Given the description of an element on the screen output the (x, y) to click on. 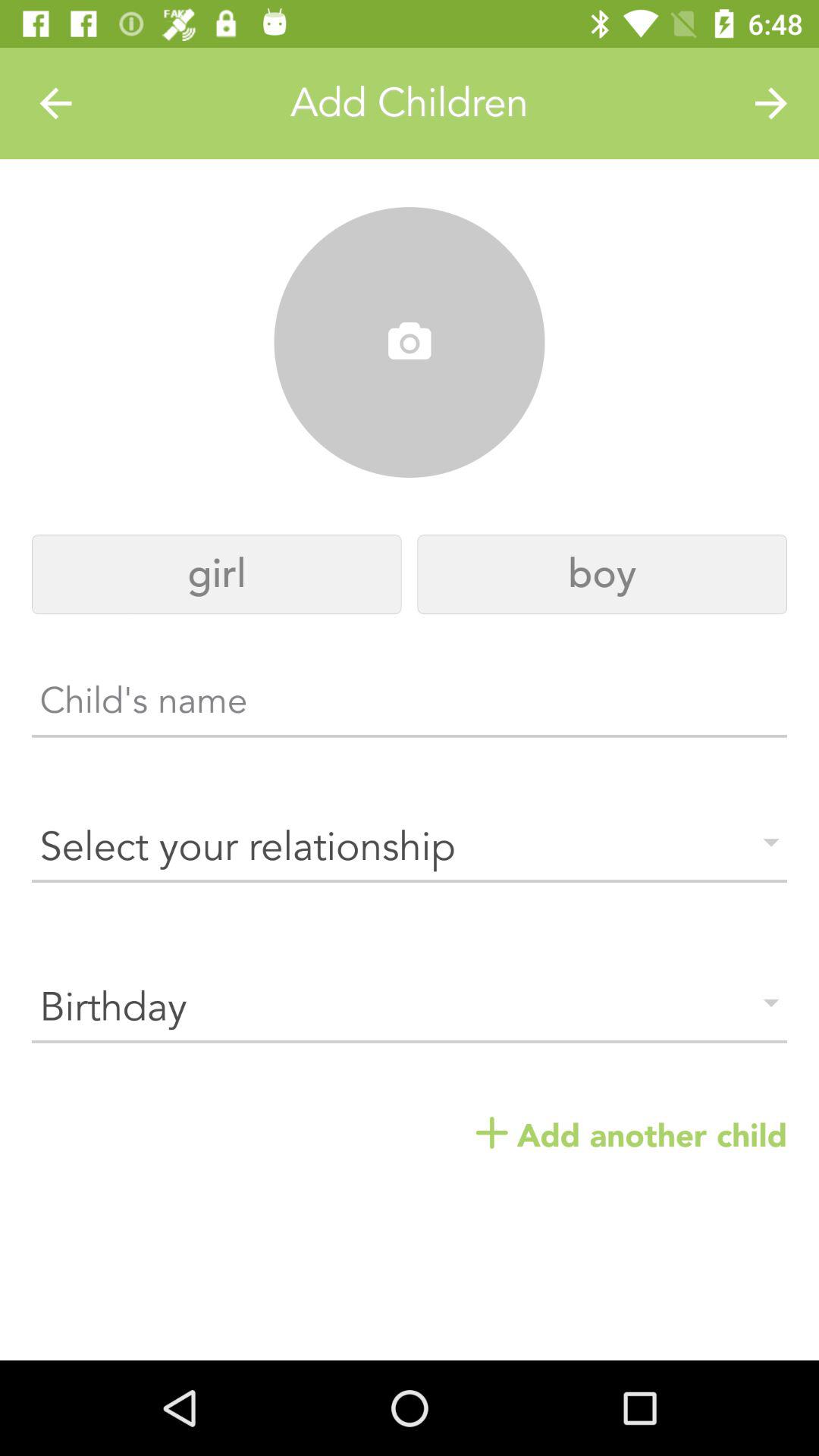
turn off the item above girl (409, 342)
